Given the description of an element on the screen output the (x, y) to click on. 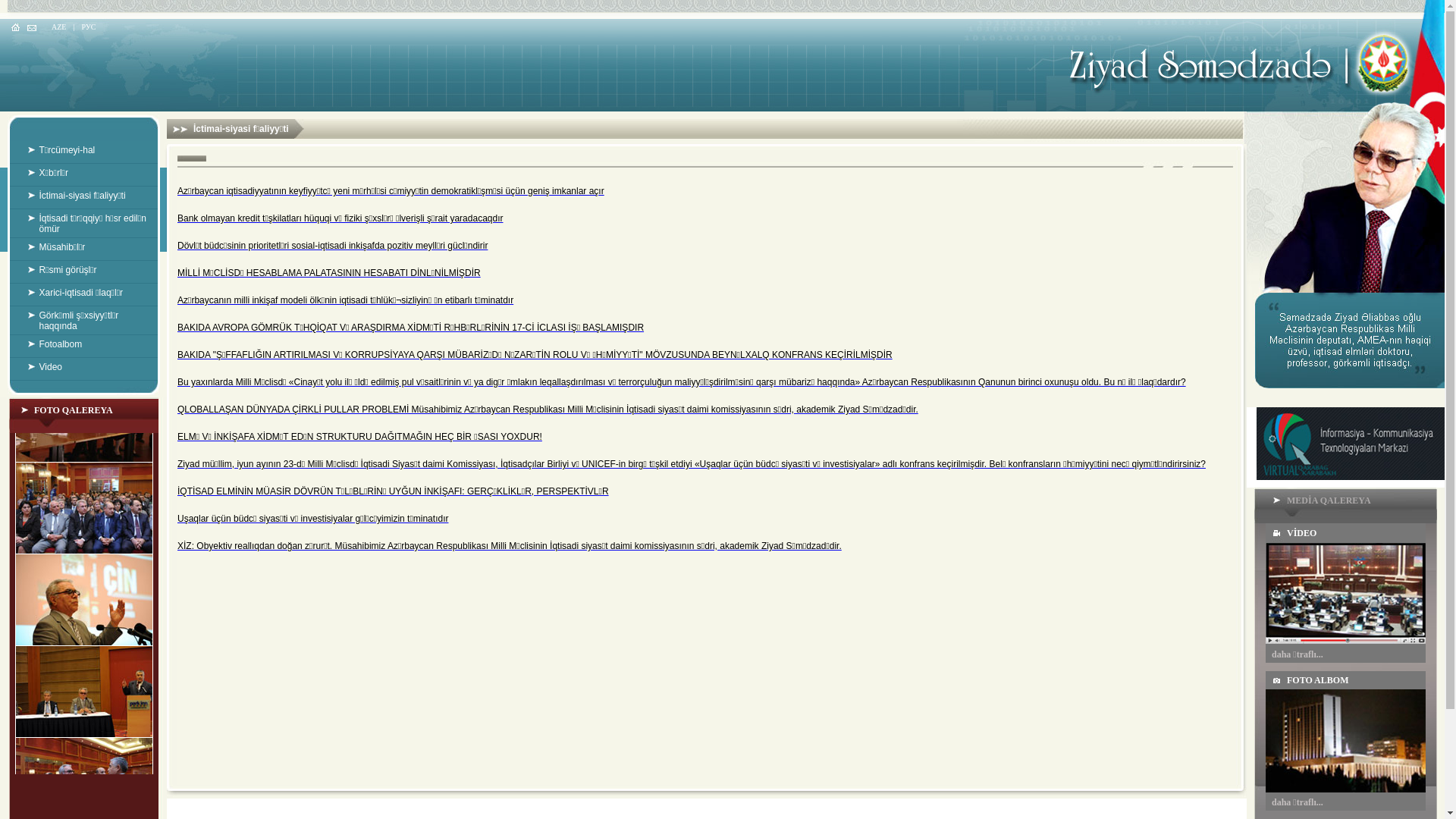
Video Element type: text (82, 366)
Fotoalbom Element type: text (82, 343)
Q Element type: text (180, 409)
AZE Element type: text (58, 26)
